Given the description of an element on the screen output the (x, y) to click on. 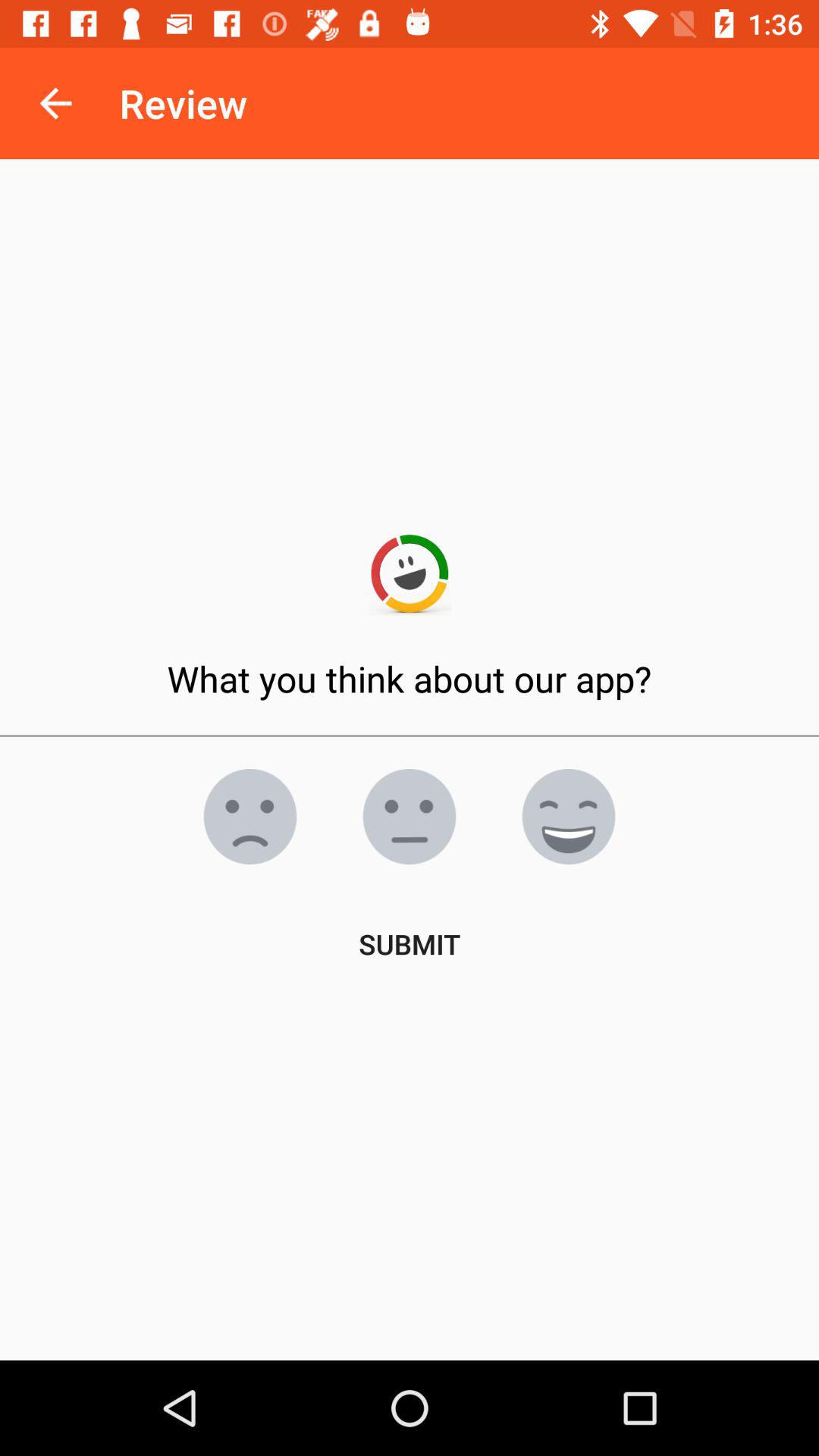
rate app (249, 816)
